Given the description of an element on the screen output the (x, y) to click on. 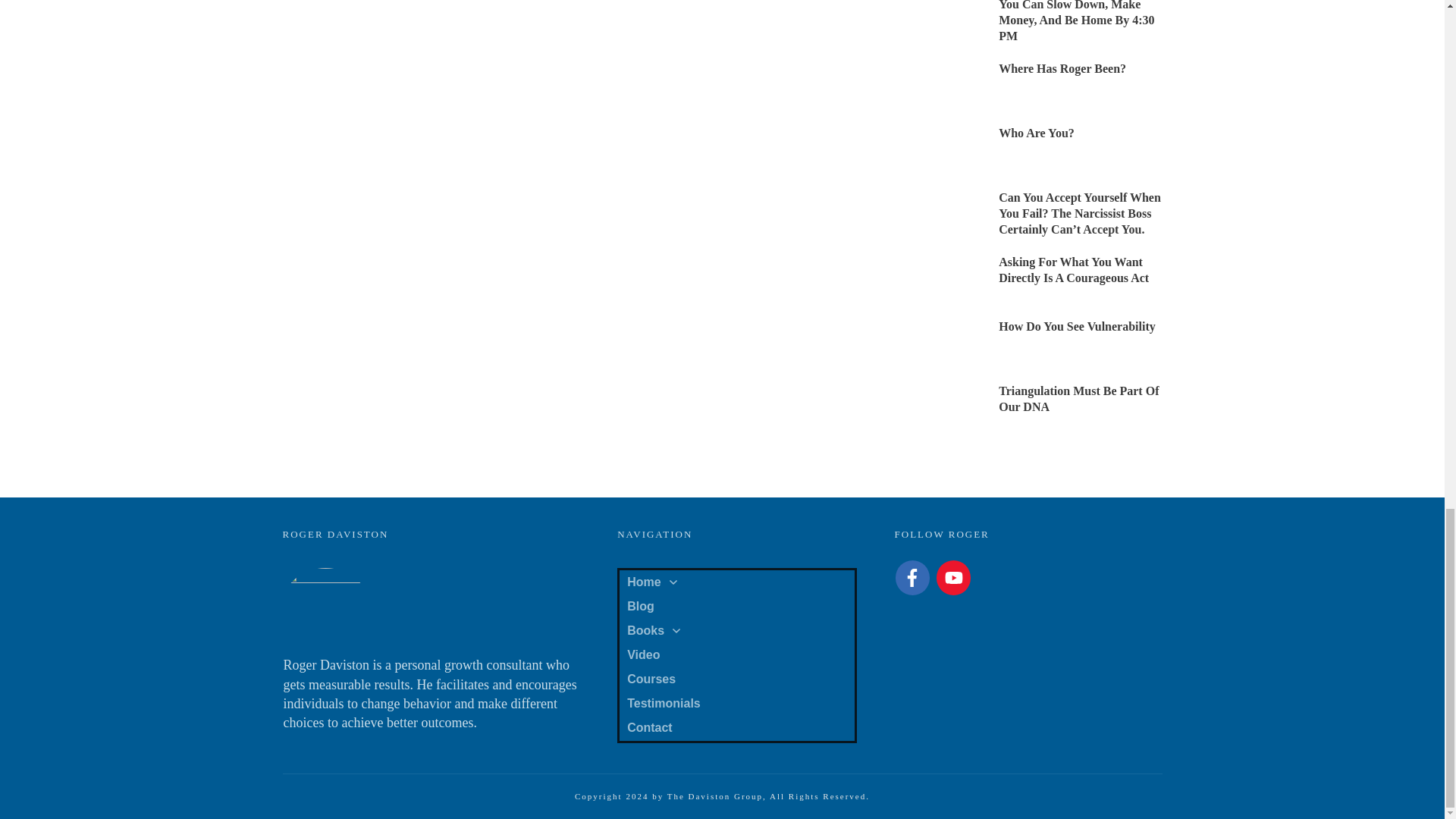
Who Are You? (1036, 132)
Triangulation Must Be Part Of Our DNA (1078, 398)
How Do You See Vulnerability (1077, 326)
Asking For What You Want Directly Is A Courageous Act (1073, 269)
You Can Slow Down, Make Money, And Be Home By 4:30 PM (1076, 21)
Where Has Roger Been? (1061, 68)
Where Has Roger Been? (1061, 68)
Who Are You? (1036, 132)
Roger Daviston (325, 603)
Asking For What You Want Directly Is A Courageous Act (1073, 269)
